Given the description of an element on the screen output the (x, y) to click on. 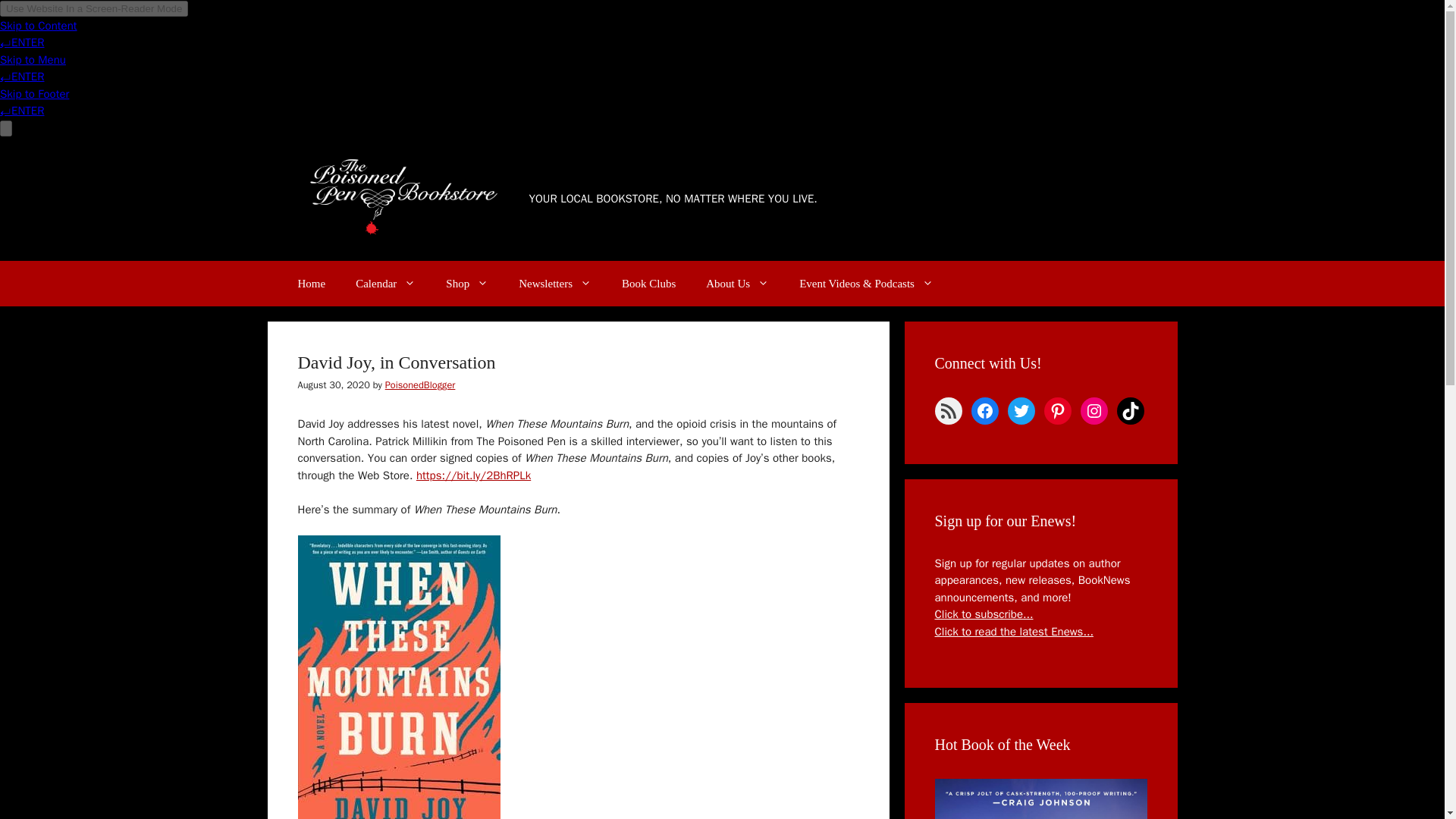
TikTok (1129, 411)
RSS Feed (947, 411)
Calendar (385, 283)
Click to subscribe... (983, 613)
Pinterest (1056, 411)
Twitter (1020, 411)
Book Clubs (648, 283)
PoisonedBlogger (420, 385)
Home (311, 283)
Shop (466, 283)
Newsletters (555, 283)
View all posts by PoisonedBlogger (420, 385)
Instagram (1093, 411)
About Us (737, 283)
Facebook (984, 411)
